Given the description of an element on the screen output the (x, y) to click on. 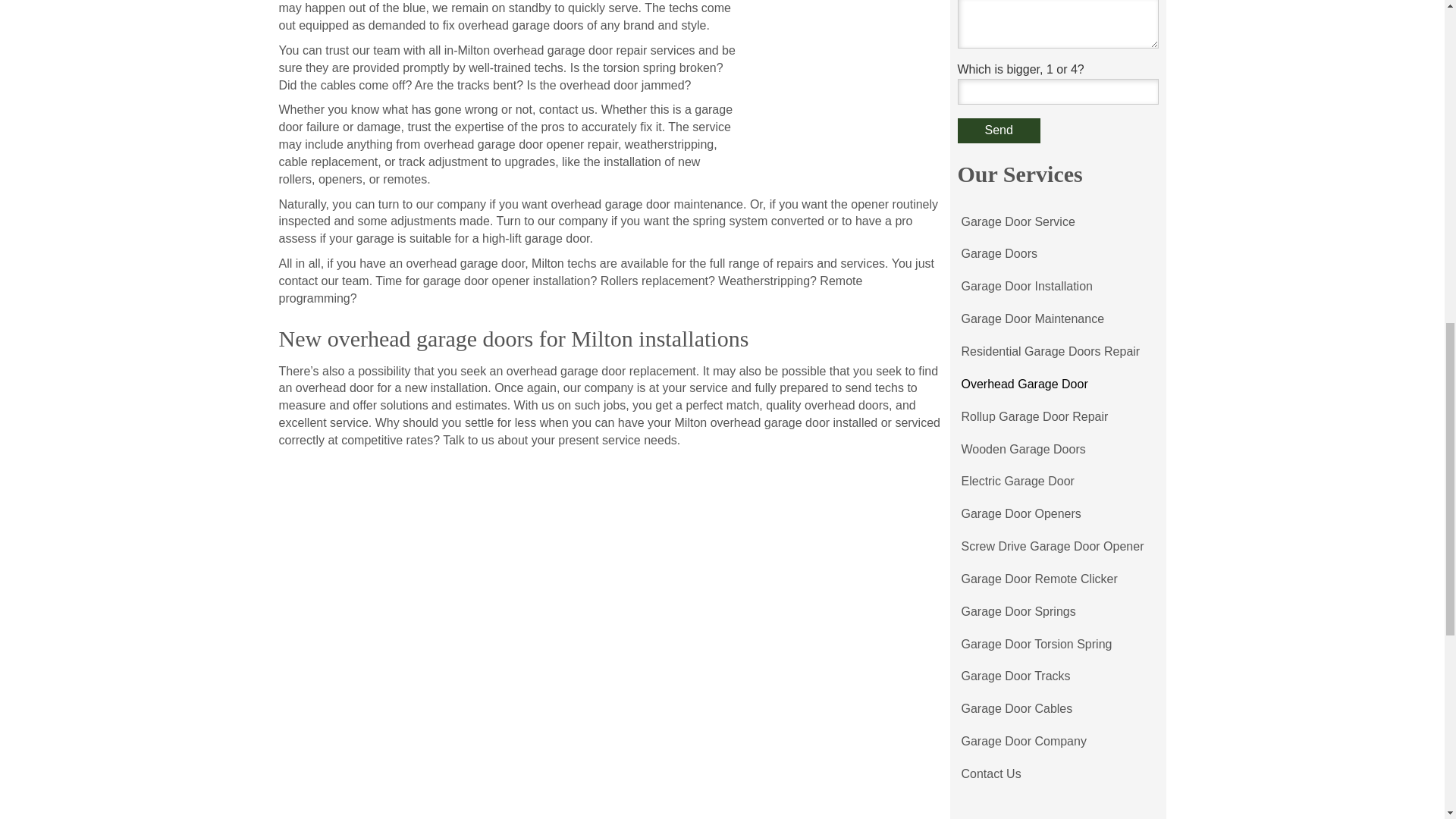
Residential Garage Doors Repair (1050, 351)
Garage Door Maintenance (1032, 319)
Send (997, 130)
Garage Door Installation (1026, 287)
Rollup Garage Door Repair (1034, 417)
Garage Door Service (1017, 222)
Overhead Garage Door (1024, 384)
Send (997, 130)
Garage Doors (998, 254)
